Given the description of an element on the screen output the (x, y) to click on. 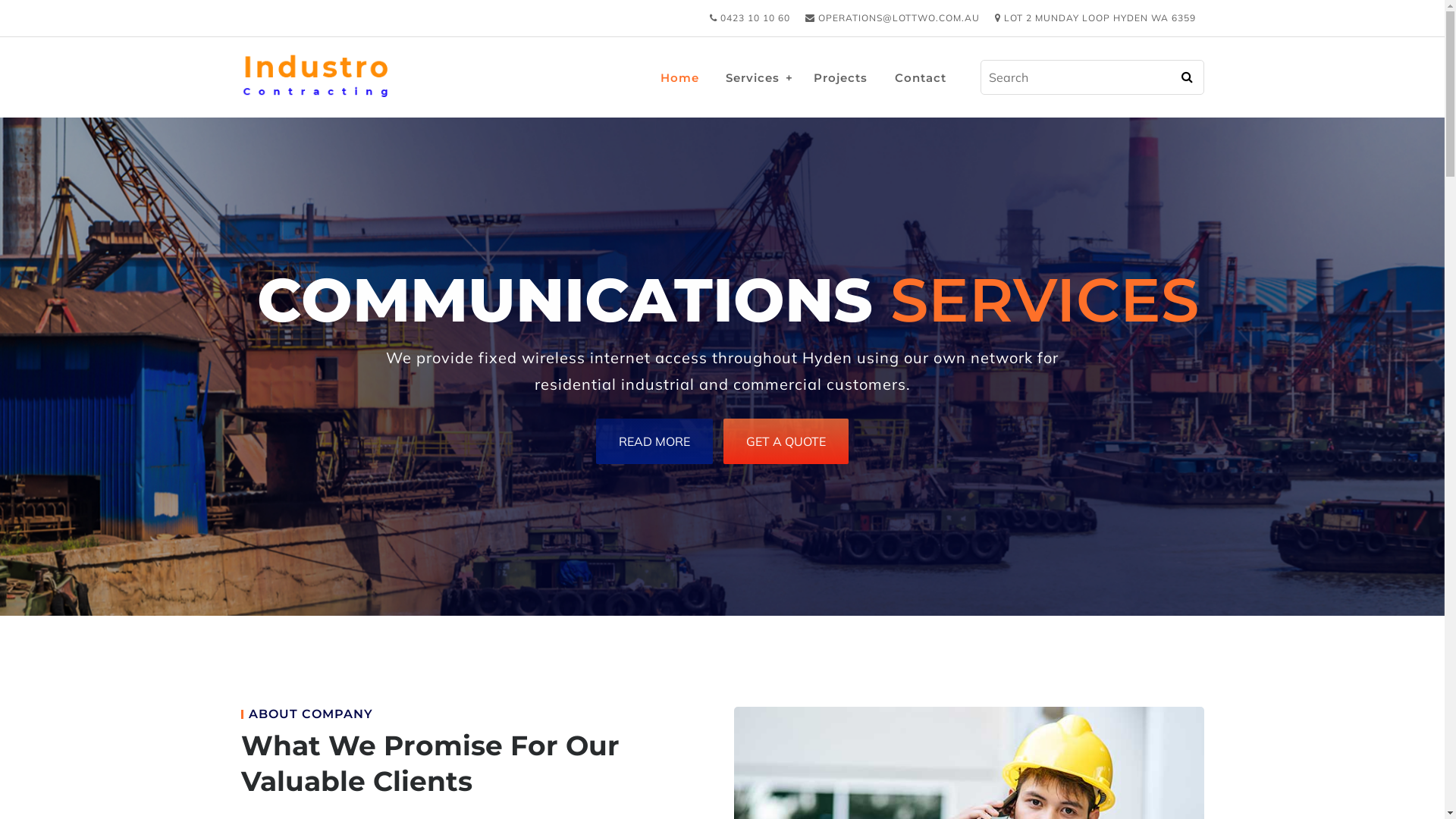
Contact Element type: text (920, 77)
Home Element type: text (679, 77)
Services Element type: text (752, 77)
Projects Element type: text (840, 77)
READ MORE Element type: text (654, 441)
GET A QUOTE Element type: text (785, 441)
